Given the description of an element on the screen output the (x, y) to click on. 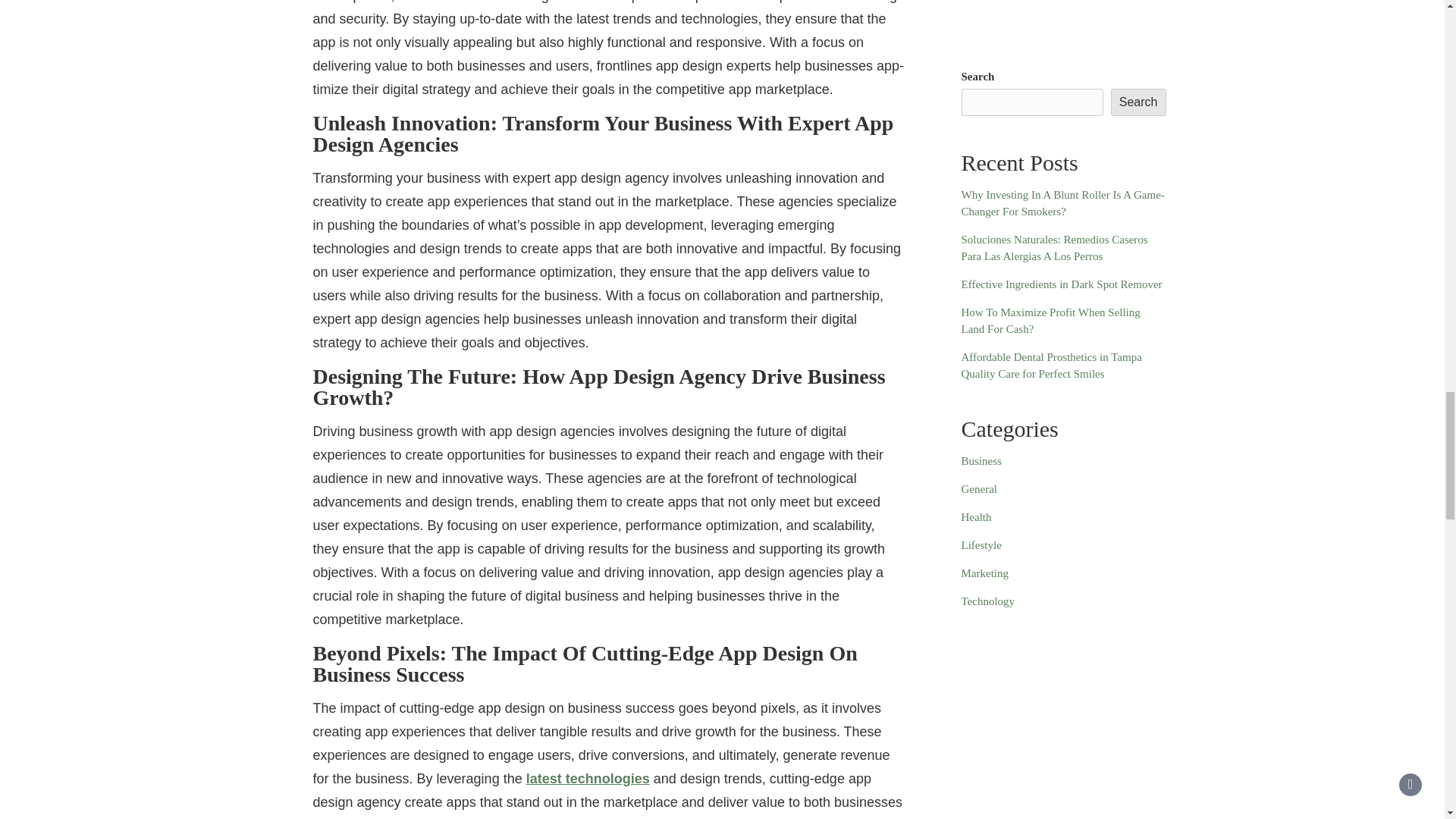
latest technologies (587, 778)
